Given the description of an element on the screen output the (x, y) to click on. 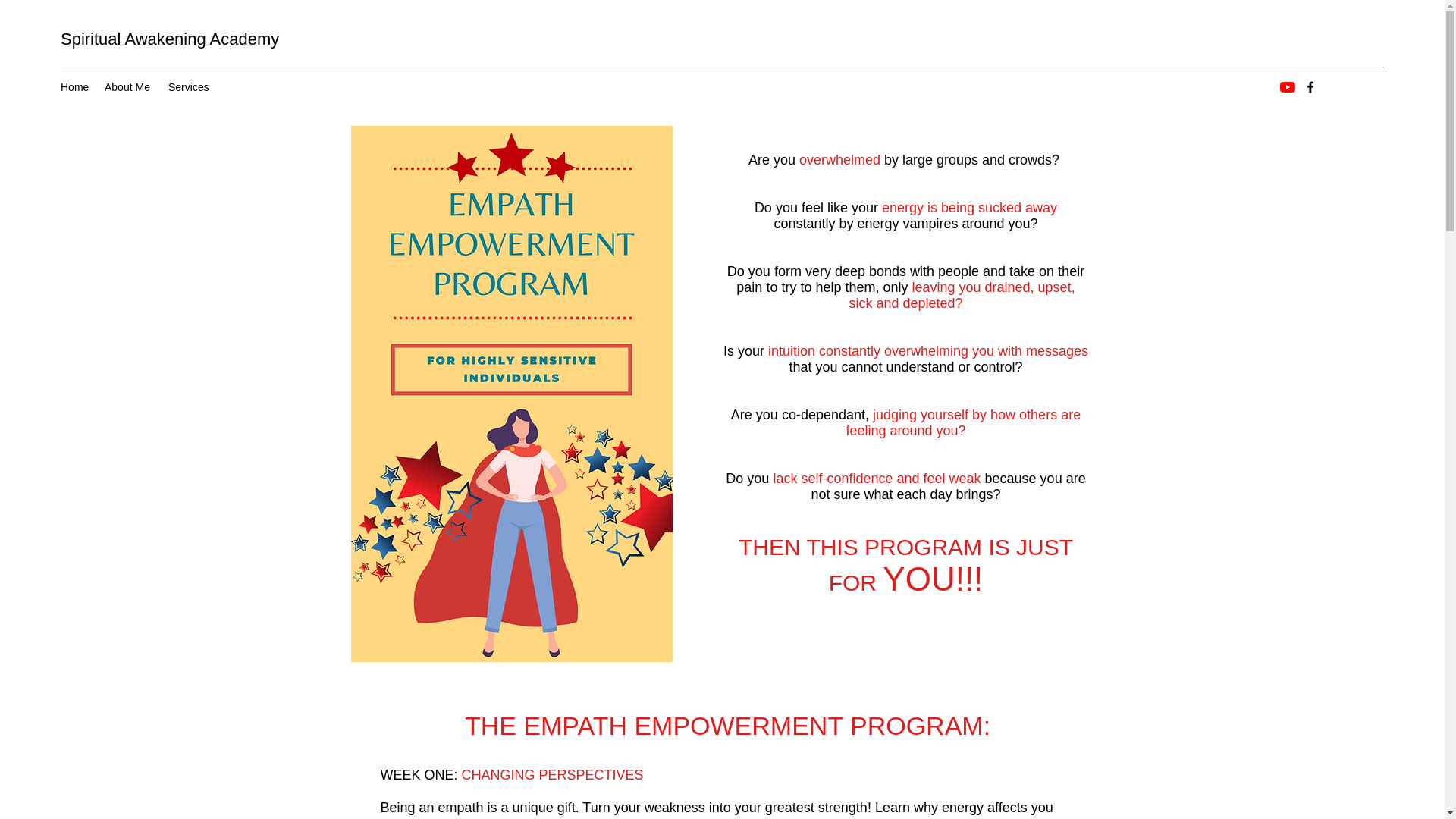
Spiritual  (92, 38)
Home (74, 87)
About Me (128, 87)
Services (187, 87)
